Given the description of an element on the screen output the (x, y) to click on. 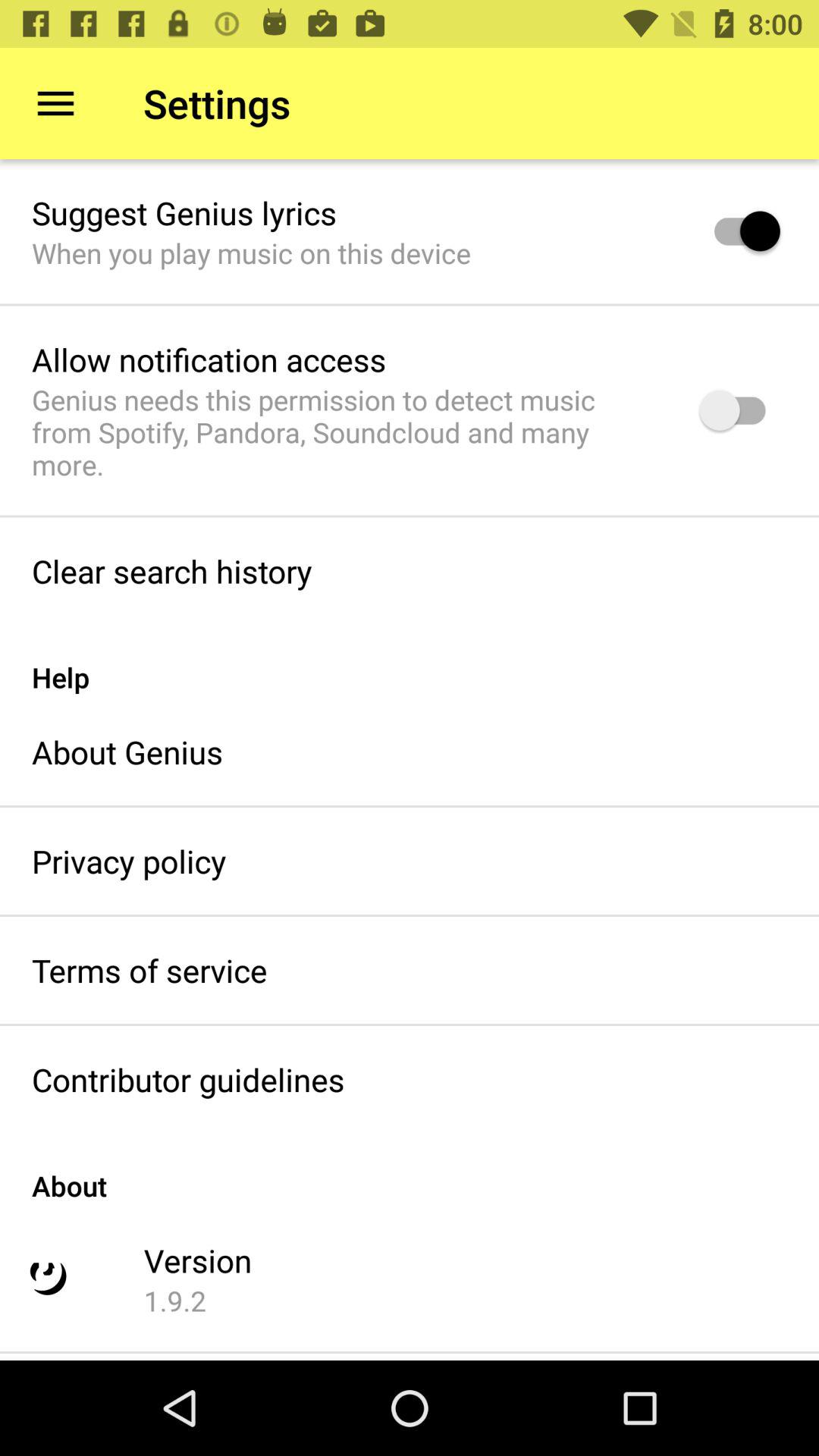
open the item above help icon (171, 570)
